Given the description of an element on the screen output the (x, y) to click on. 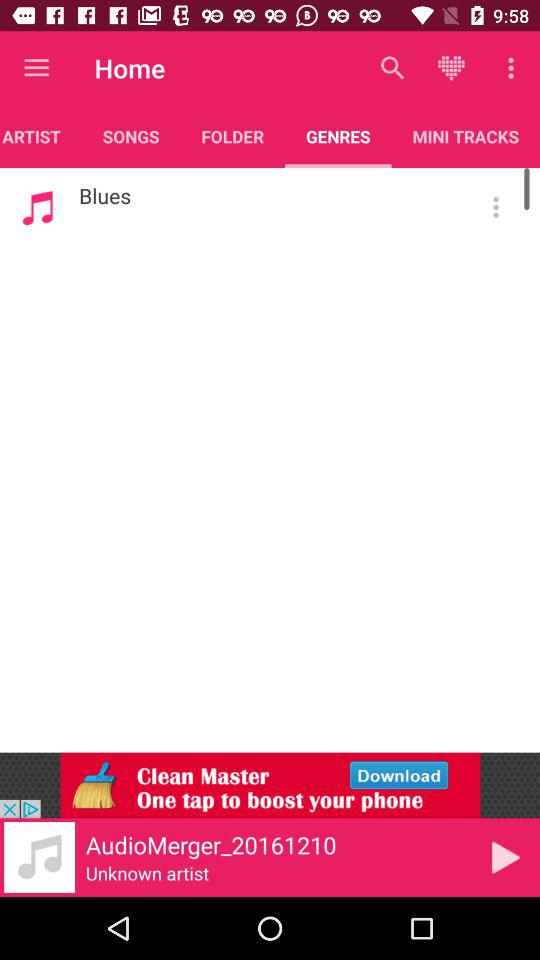
select the button (495, 207)
